Given the description of an element on the screen output the (x, y) to click on. 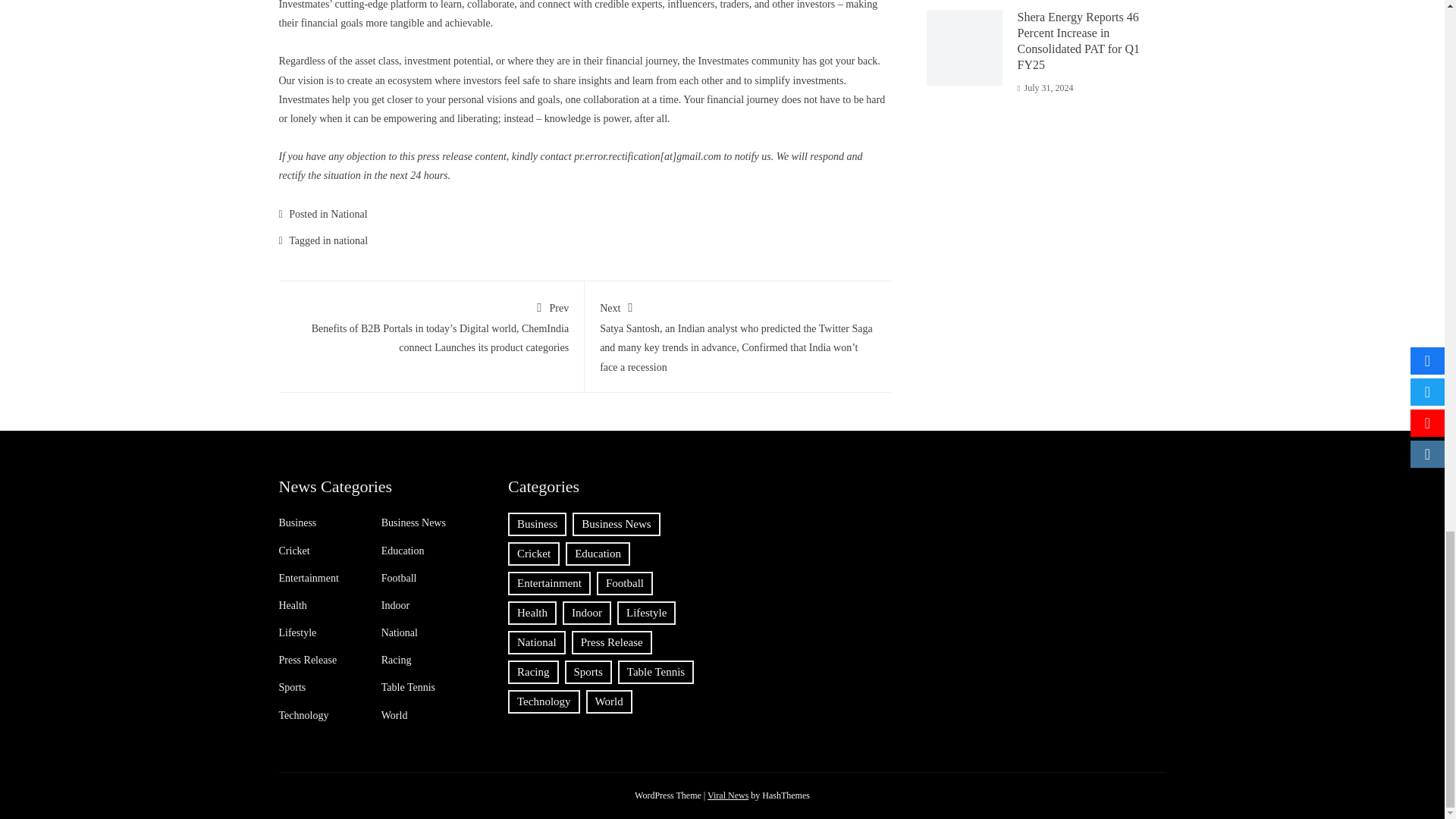
National (348, 214)
national (350, 240)
Download Viral News (727, 795)
